Given the description of an element on the screen output the (x, y) to click on. 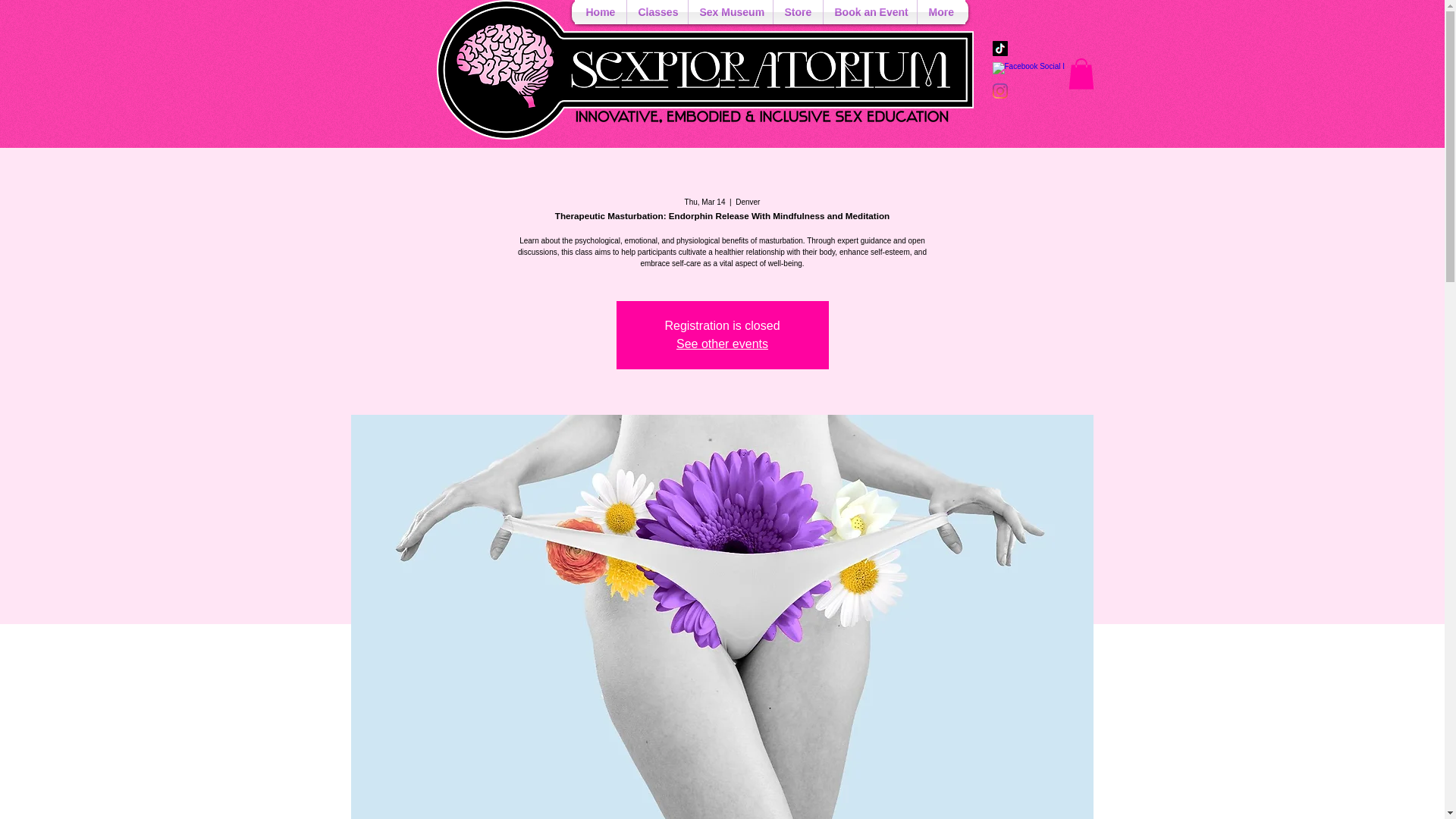
Home (600, 12)
Sexploratorium button logo.tiff (705, 69)
Classes (656, 12)
Sex Museum (730, 12)
Store (797, 12)
See other events (722, 343)
Book an Event (870, 12)
